Given the description of an element on the screen output the (x, y) to click on. 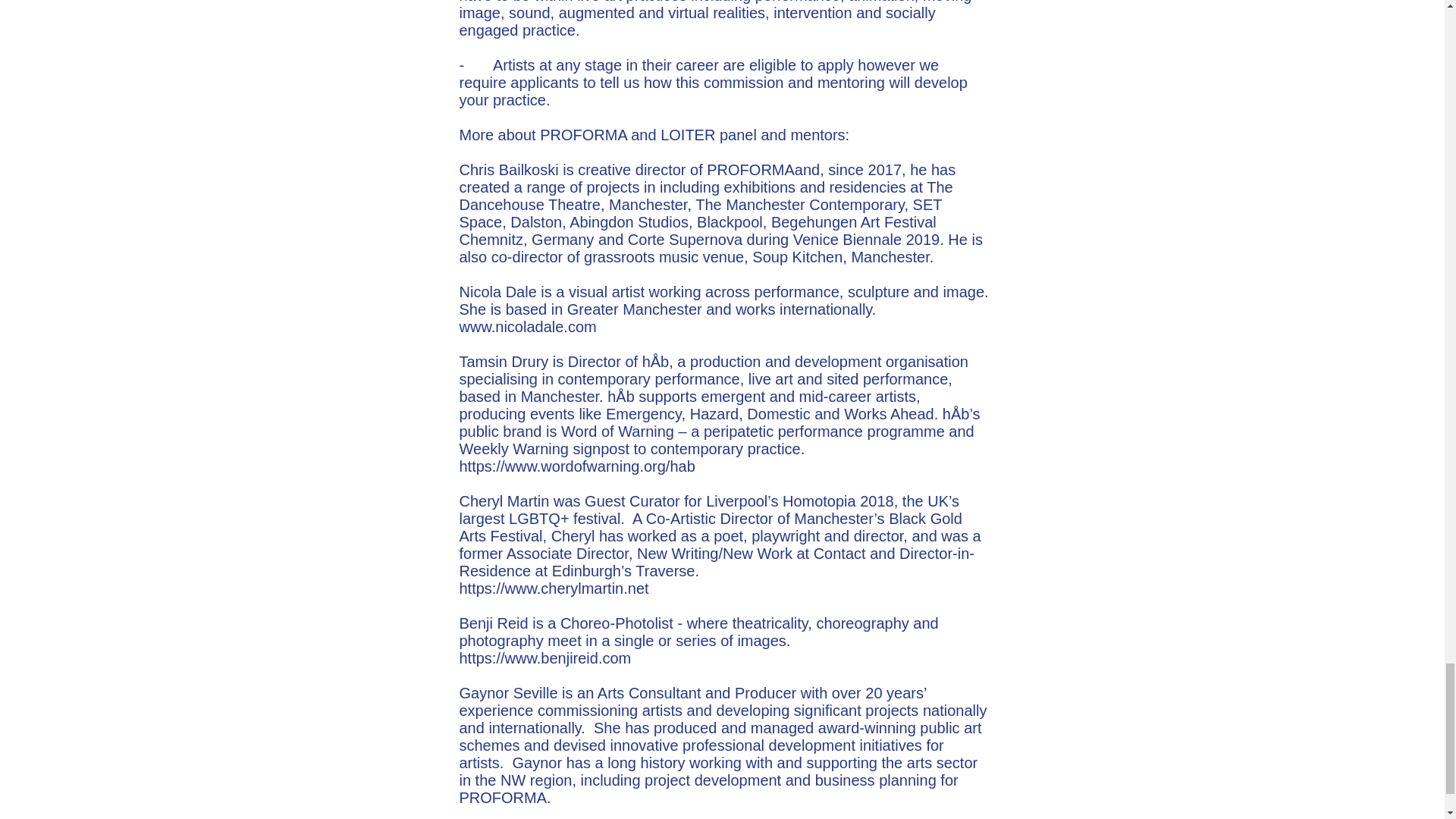
www.nicoladale.com (528, 326)
